Given the description of an element on the screen output the (x, y) to click on. 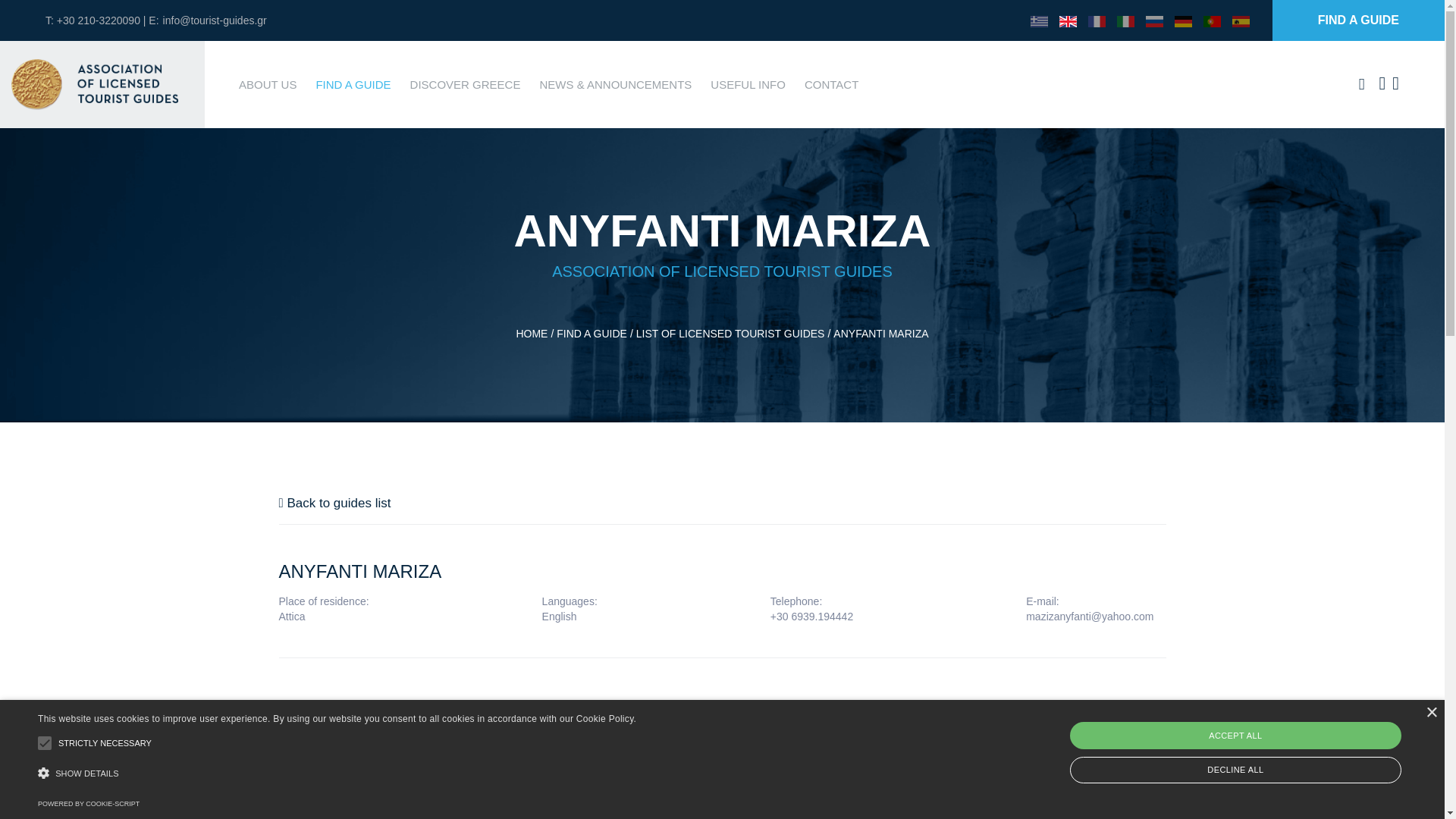
Russian (1154, 20)
USEFUL INFO (748, 83)
CONTACT (832, 83)
Italian (1125, 20)
FIND A GUIDE (352, 83)
DISCOVER GREECE (465, 83)
Portuguese (1212, 20)
Spanish (1240, 20)
French (1096, 20)
German (1183, 20)
English (1068, 20)
ABOUT US (267, 83)
